Given the description of an element on the screen output the (x, y) to click on. 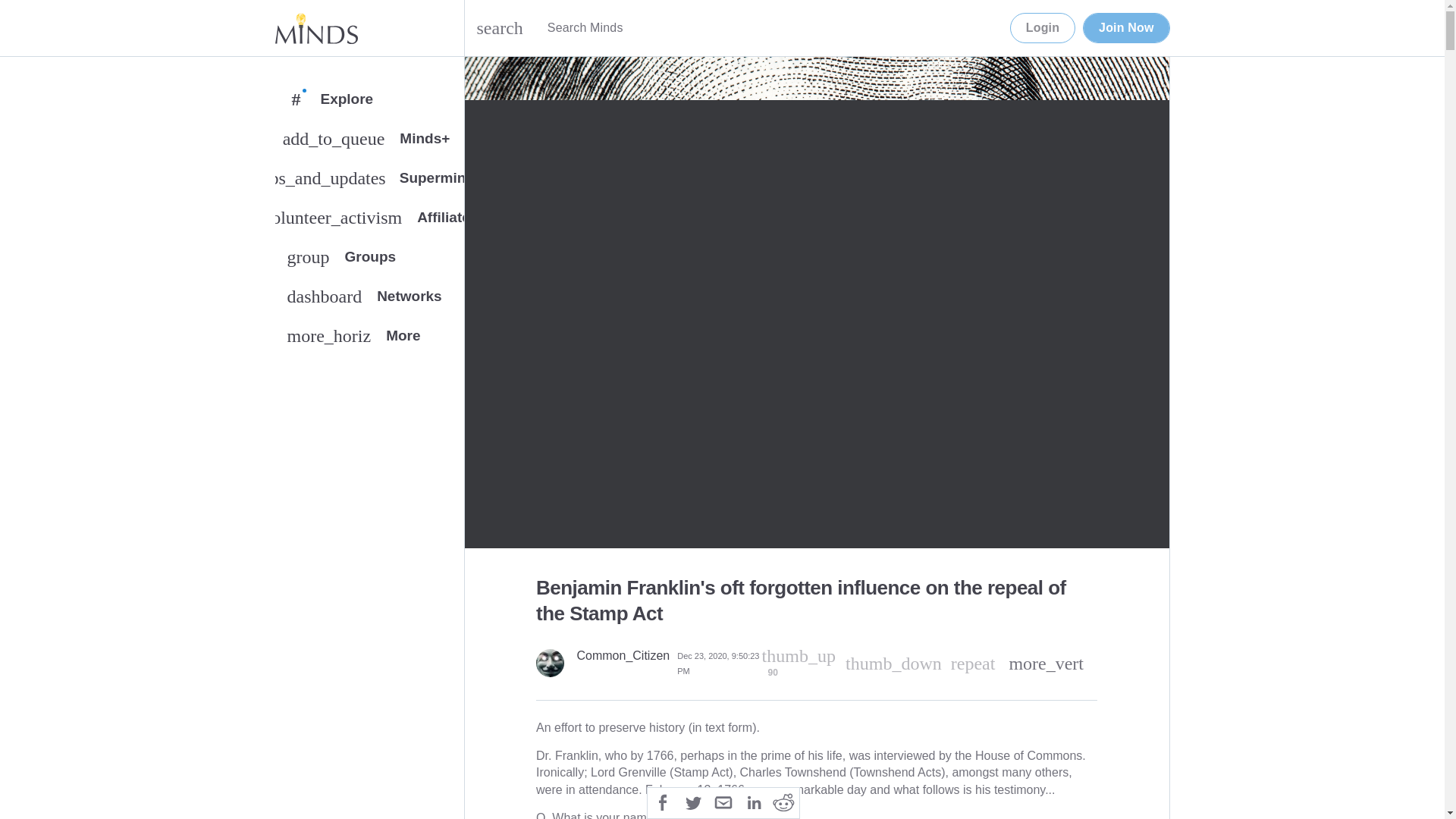
Join Now (1126, 28)
Join Now (1126, 28)
Login (1042, 28)
Home (315, 28)
Twitter (692, 801)
Login (369, 260)
Email (369, 299)
repeat (1042, 28)
